Given the description of an element on the screen output the (x, y) to click on. 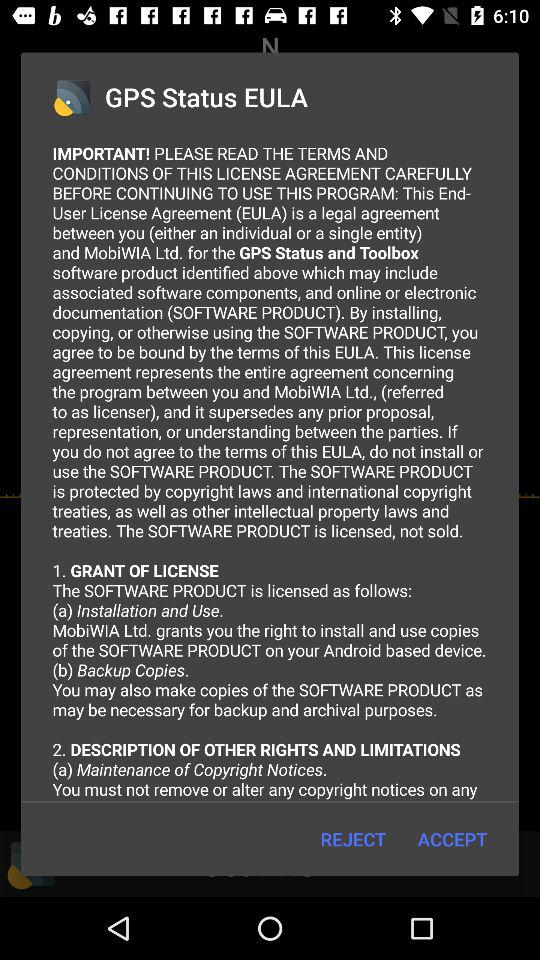
choose the item next to accept item (352, 838)
